Given the description of an element on the screen output the (x, y) to click on. 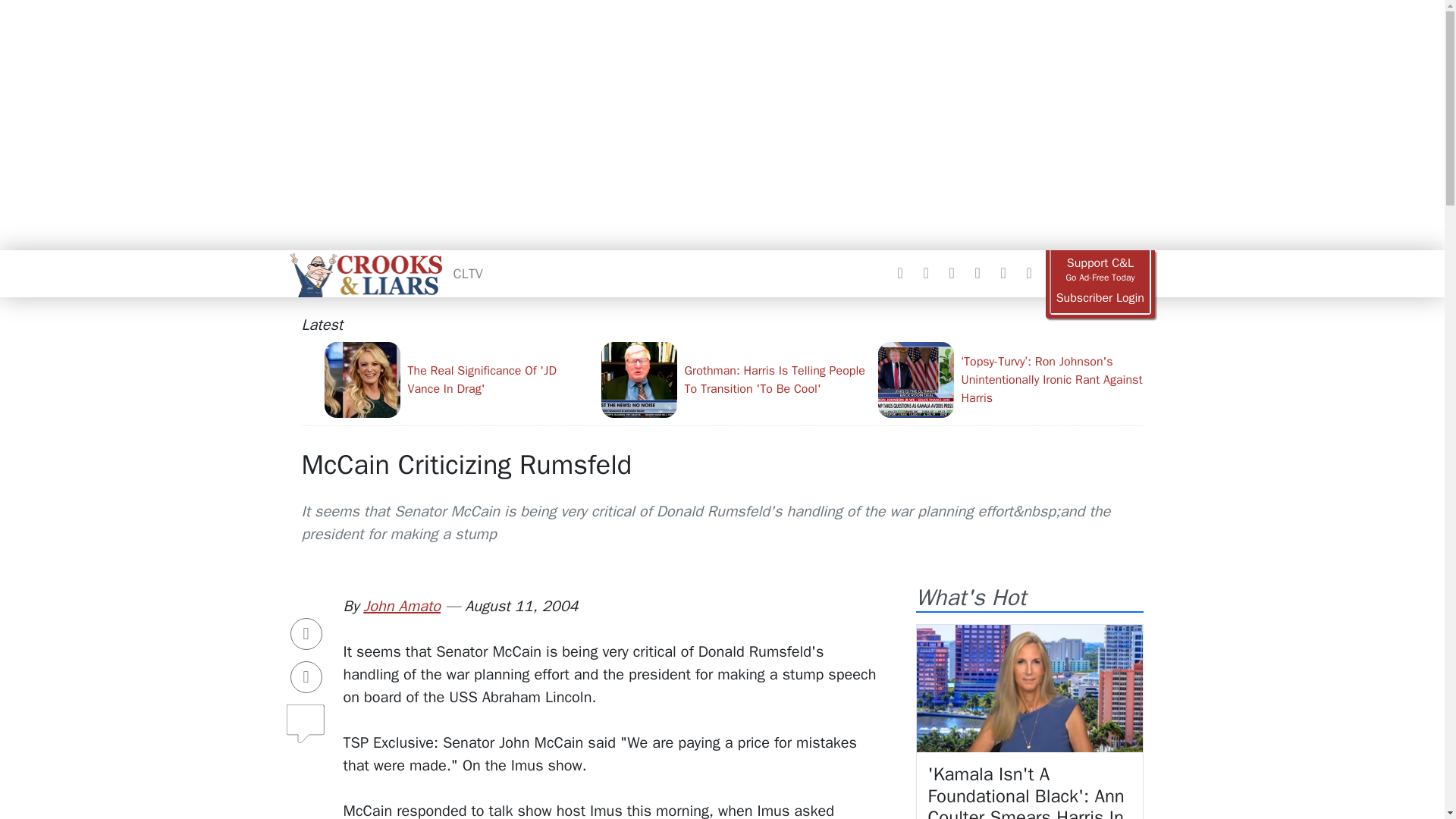
The Real Significance Of 'JD Vance In Drag' (456, 379)
Go ad free today! (1099, 270)
Share on Twitter (306, 676)
McCain Criticizing Rumsfeld (466, 464)
John Amato (401, 606)
Login to your ad free account (1099, 298)
Subscriber Login (1099, 298)
